Given the description of an element on the screen output the (x, y) to click on. 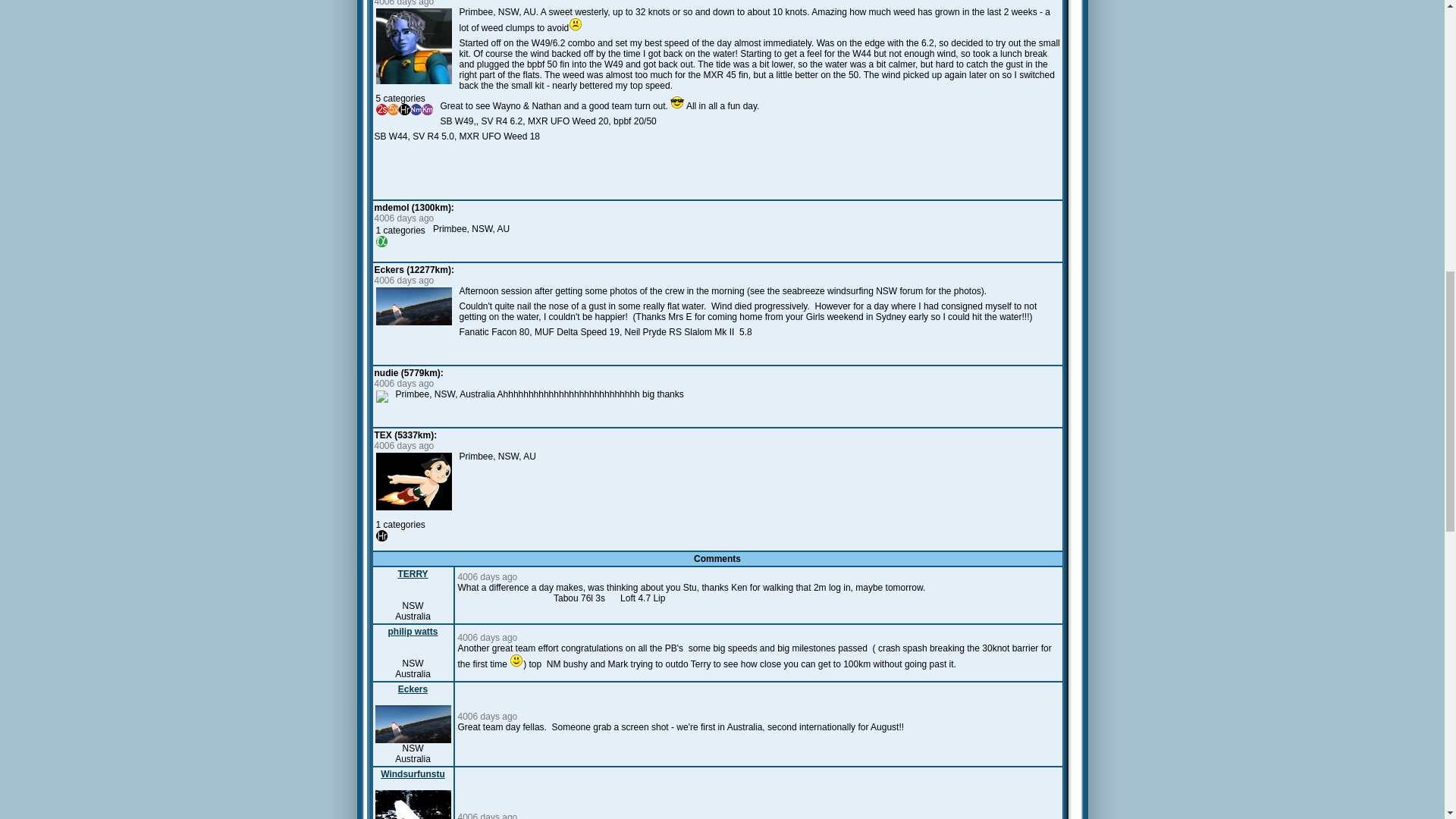
Smile (515, 660)
Frown (575, 24)
Cool (676, 101)
